Given the description of an element on the screen output the (x, y) to click on. 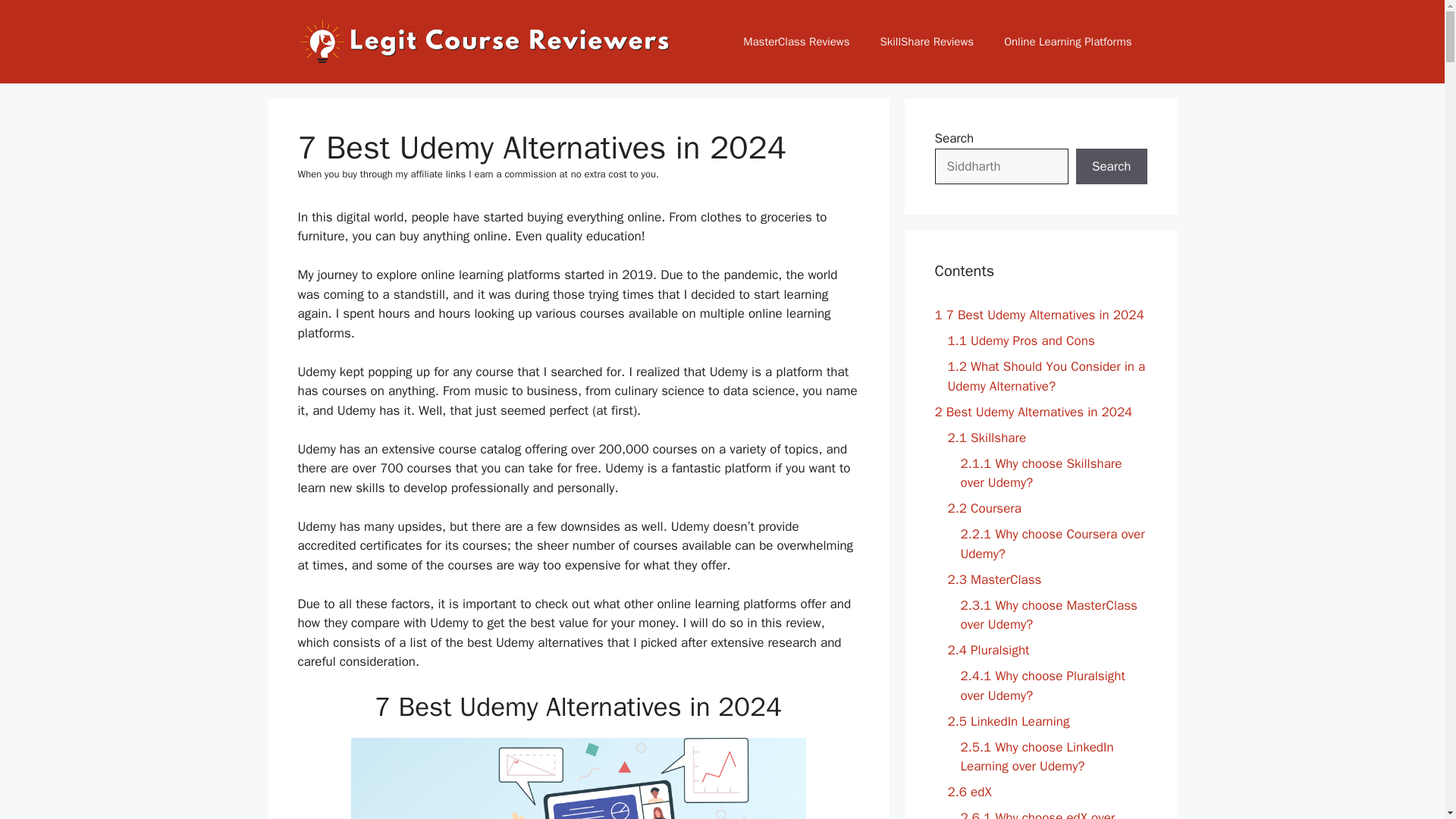
Search (1111, 166)
SkillShare Reviews (926, 41)
Online Learning Platforms (1067, 41)
MasterClass Reviews (796, 41)
